Given the description of an element on the screen output the (x, y) to click on. 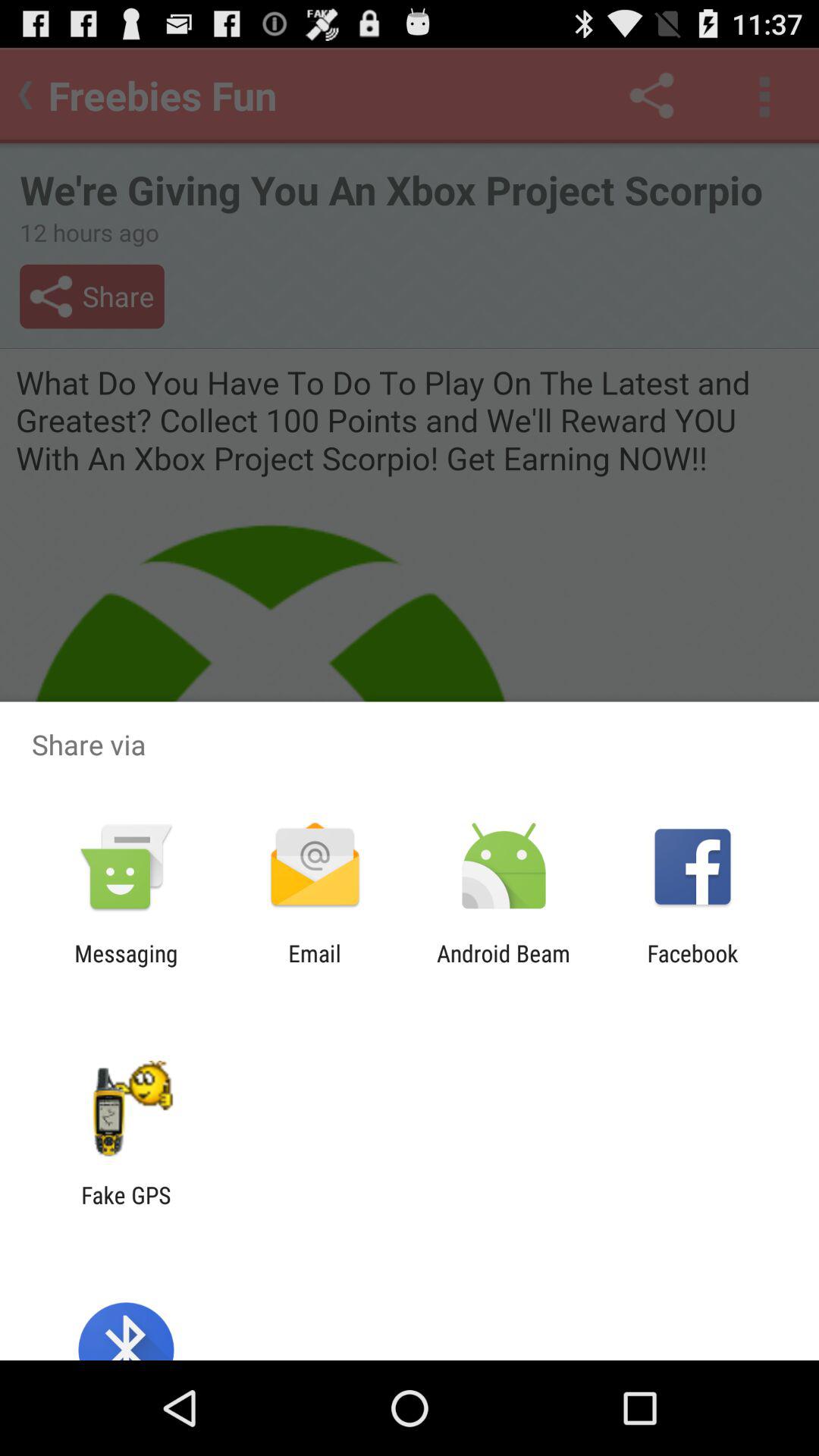
jump until the facebook icon (692, 966)
